Given the description of an element on the screen output the (x, y) to click on. 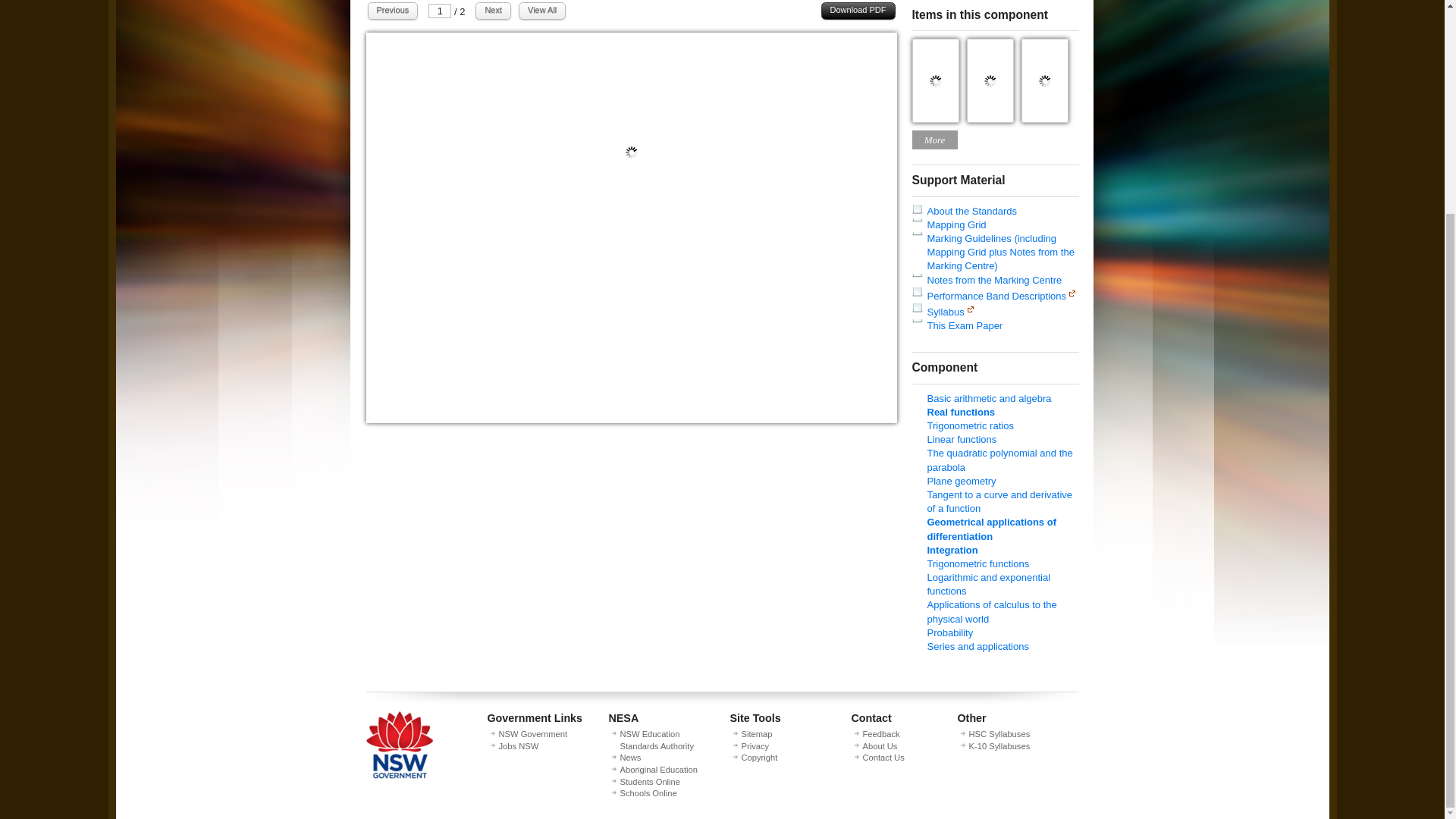
1 (439, 11)
Page 1 (630, 419)
View All (542, 10)
Previous (391, 10)
Download PDF (858, 10)
Download PDF (858, 10)
Next (493, 10)
